Given the description of an element on the screen output the (x, y) to click on. 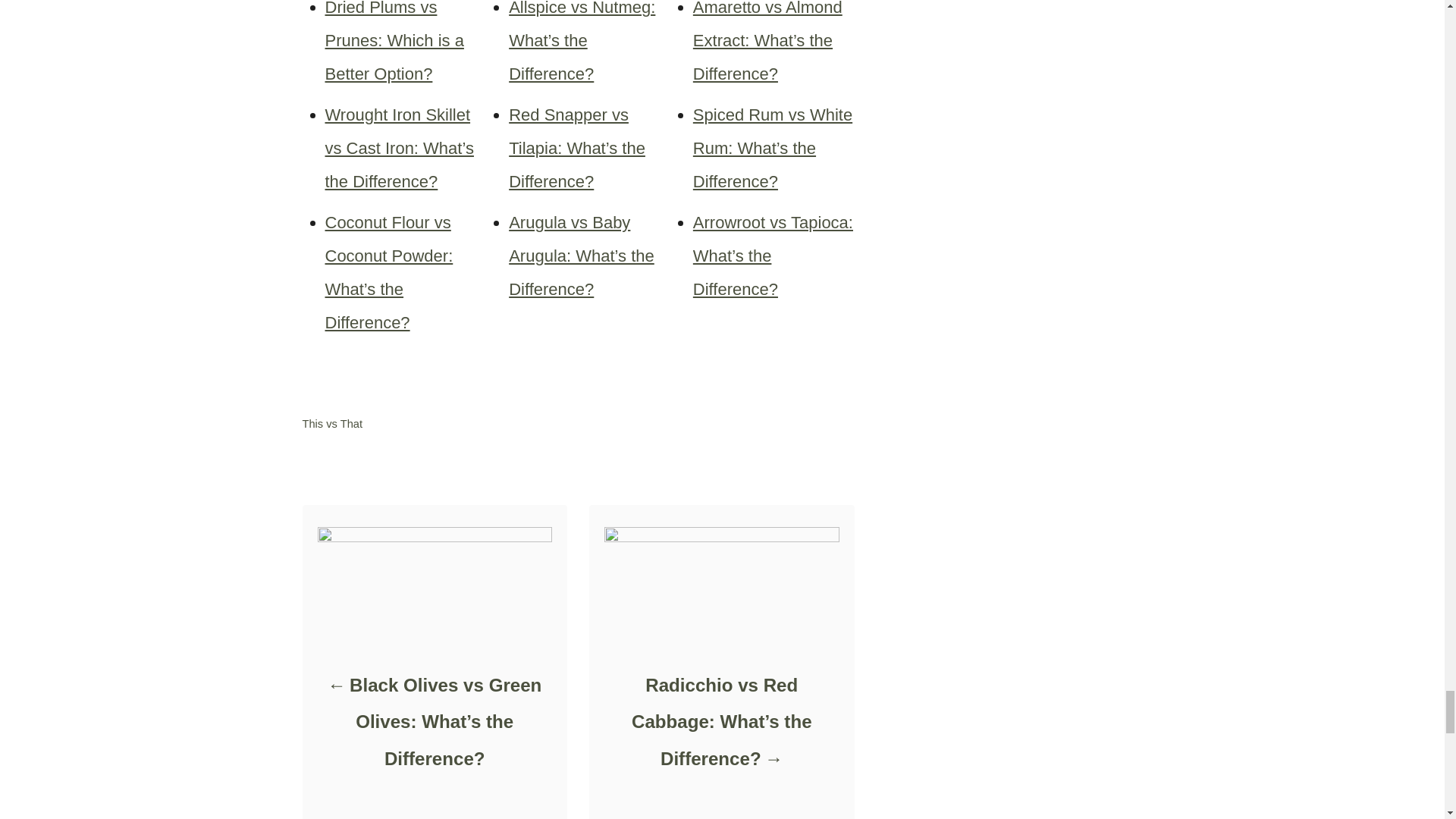
Dried Plums vs Prunes: Which is a Better Option? (393, 41)
